Given the description of an element on the screen output the (x, y) to click on. 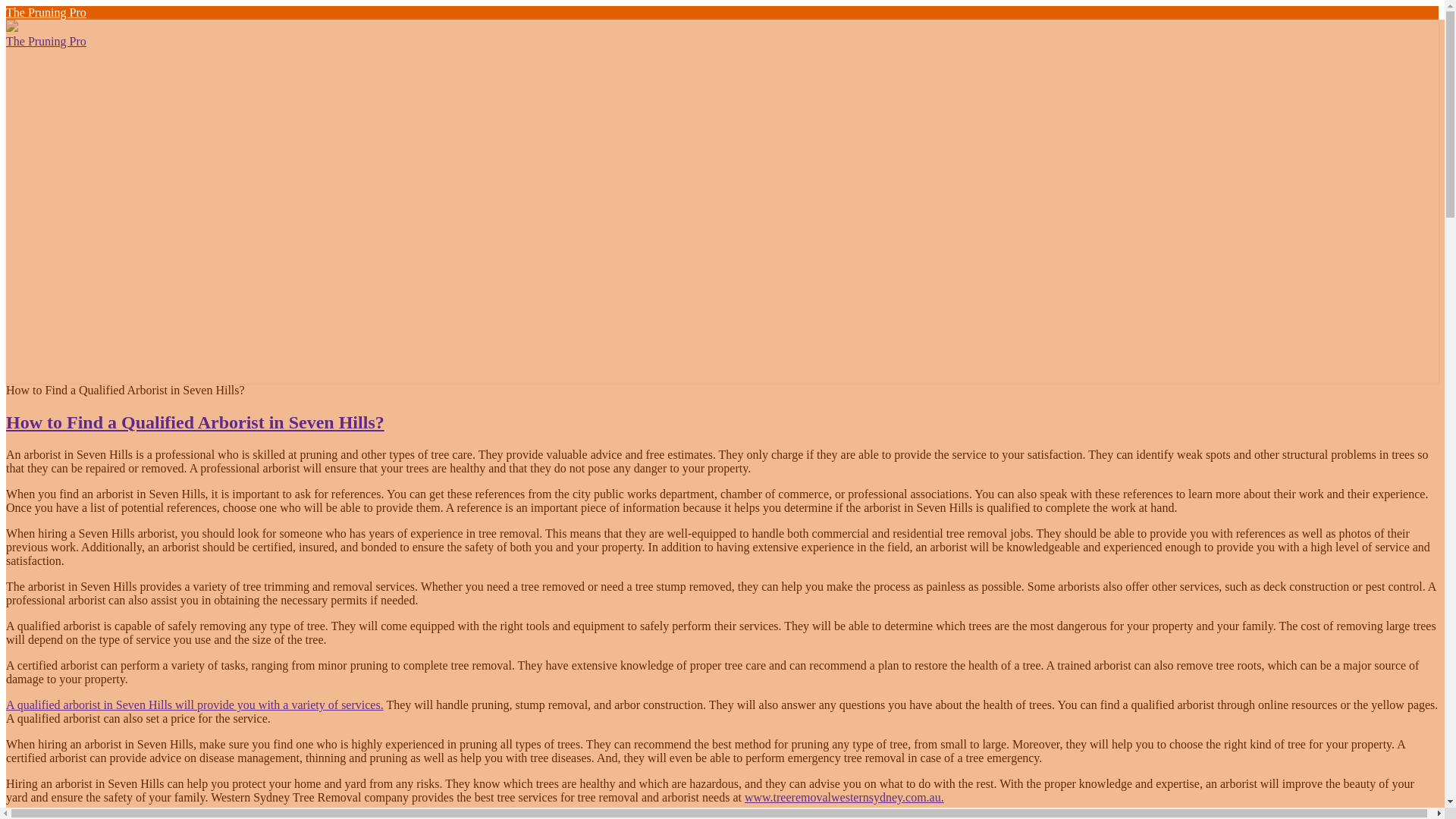
How to Find a Qualified Arborist in Seven Hills? (194, 422)
www.treeremovalwesternsydney.com.au. (843, 797)
The Pruning Pro (45, 11)
